Given the description of an element on the screen output the (x, y) to click on. 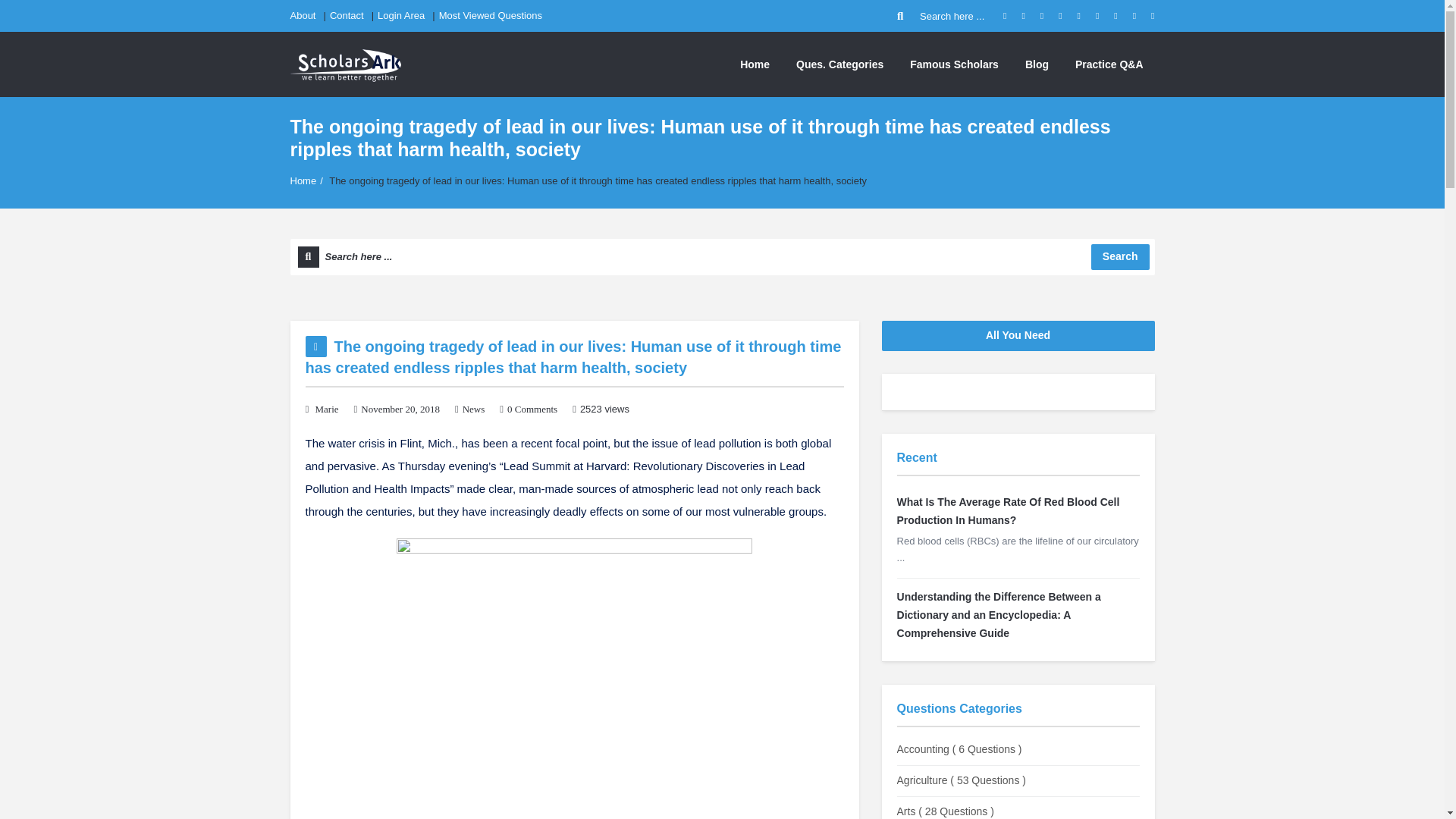
Search here ... (942, 15)
Search here ... (942, 15)
Scholars Ark (344, 64)
Posts by Marie (327, 408)
Search here ... (721, 257)
Search here ... (721, 257)
